Given the description of an element on the screen output the (x, y) to click on. 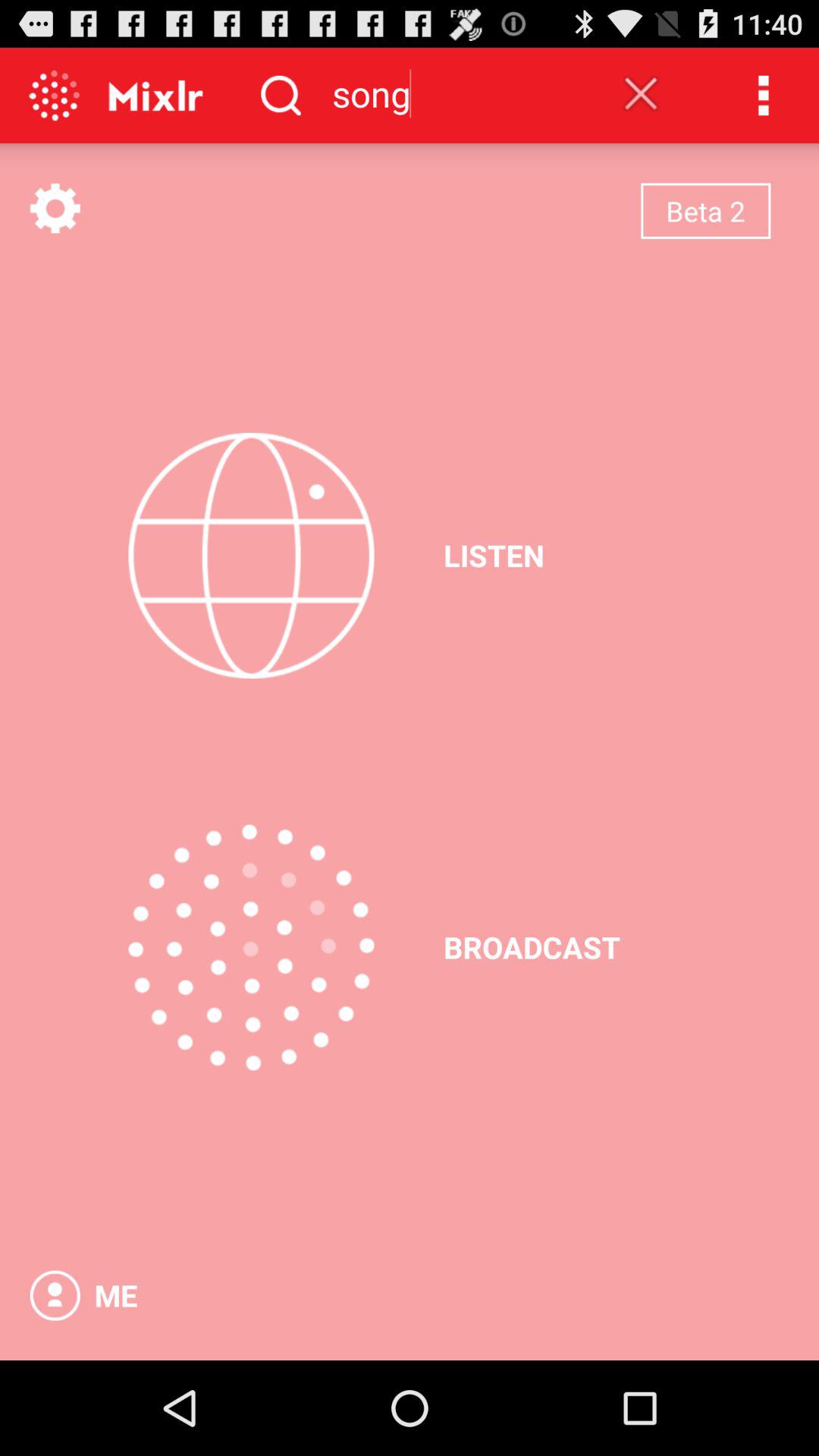
view my profile (55, 1295)
